Given the description of an element on the screen output the (x, y) to click on. 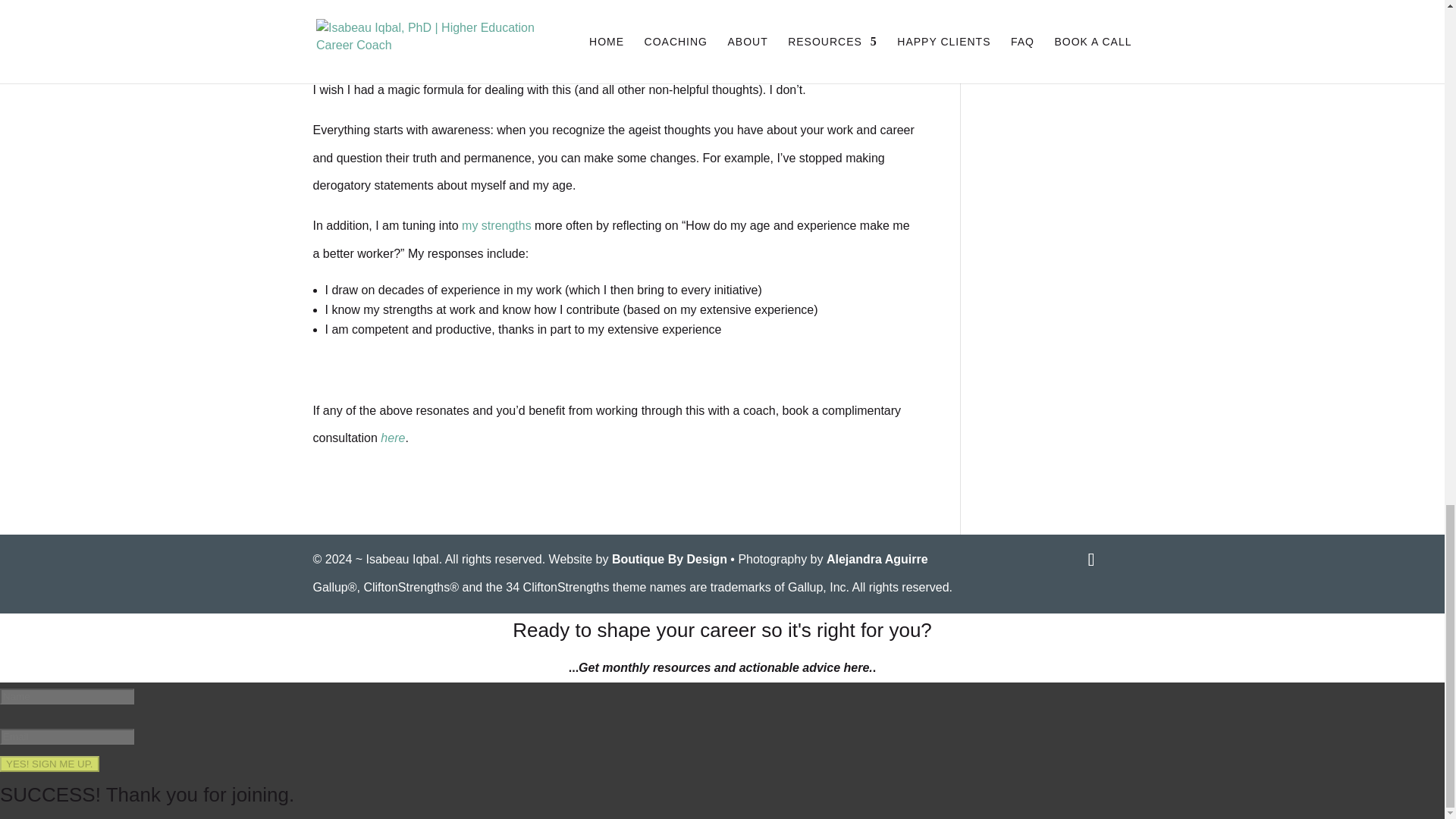
here (392, 437)
YES! SIGN ME UP. (49, 763)
my strengths (496, 225)
Boutique By Design (668, 558)
Alejandra Aguirre (877, 558)
